Given the description of an element on the screen output the (x, y) to click on. 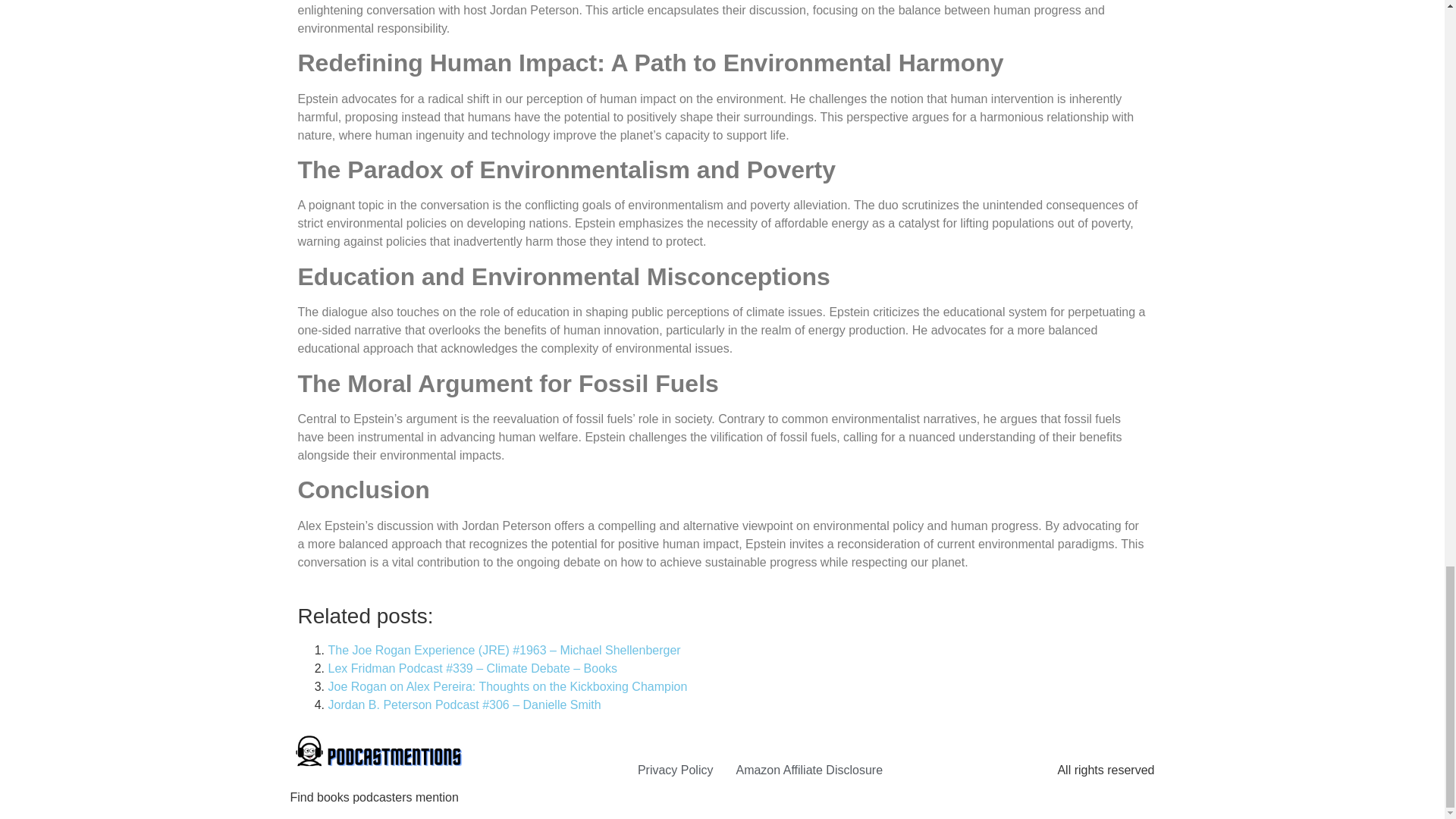
Amazon Affiliate Disclosure (808, 769)
Privacy Policy (675, 769)
